Given the description of an element on the screen output the (x, y) to click on. 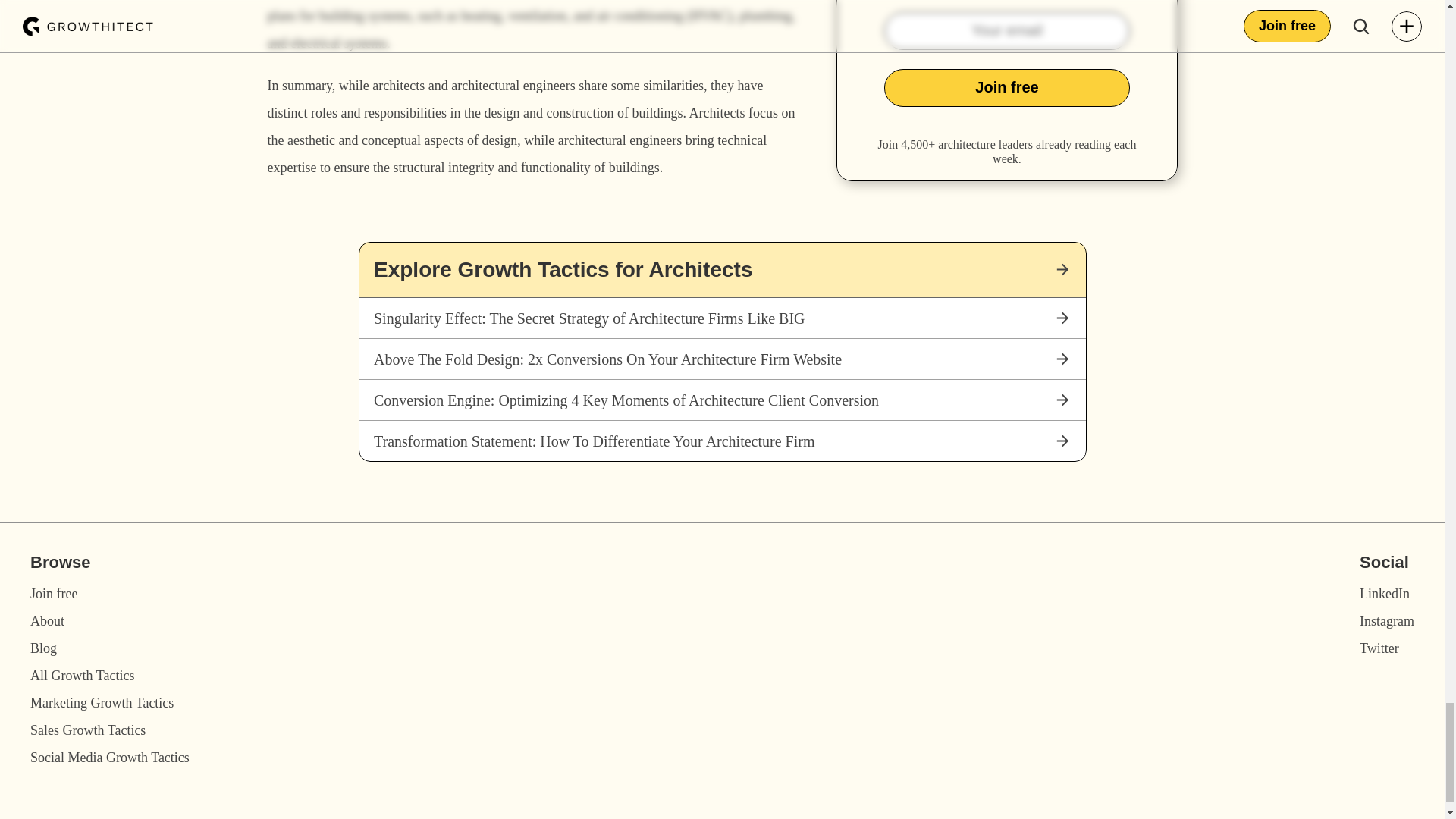
Privacy Policy (1236, 817)
Join free (53, 593)
Social Media Growth Tactics (109, 757)
Explore Growth Tactics for Architects (722, 269)
Terms of Service (1121, 817)
LinkedIn (1384, 593)
Marketing Growth Tactics (101, 702)
Sales Growth Tactics (87, 729)
About (47, 620)
Twitter (1379, 648)
Affiliate Disclosure (1357, 817)
Blog (43, 648)
